Given the description of an element on the screen output the (x, y) to click on. 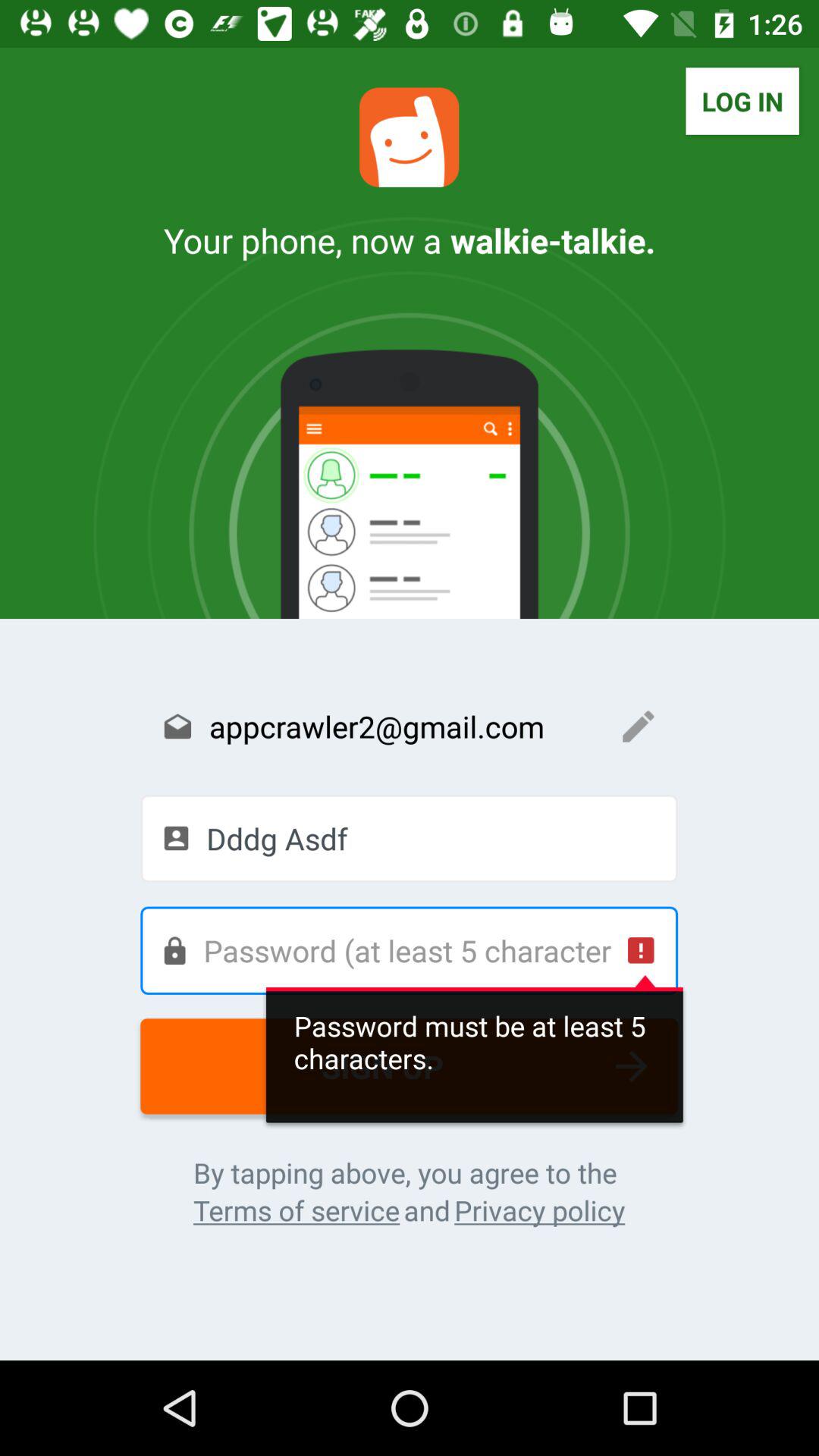
enter password (408, 950)
